Given the description of an element on the screen output the (x, y) to click on. 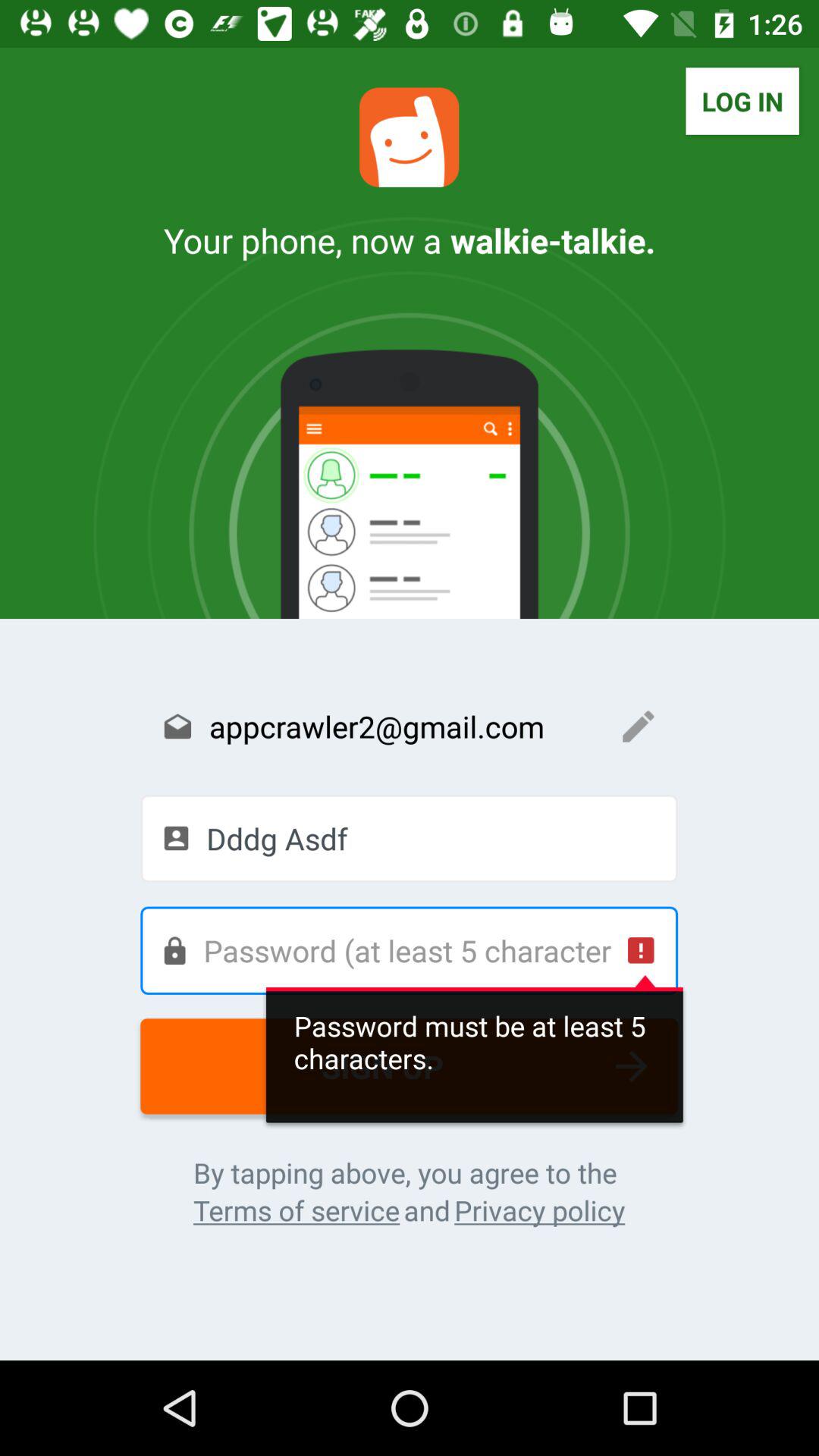
enter password (408, 950)
